Given the description of an element on the screen output the (x, y) to click on. 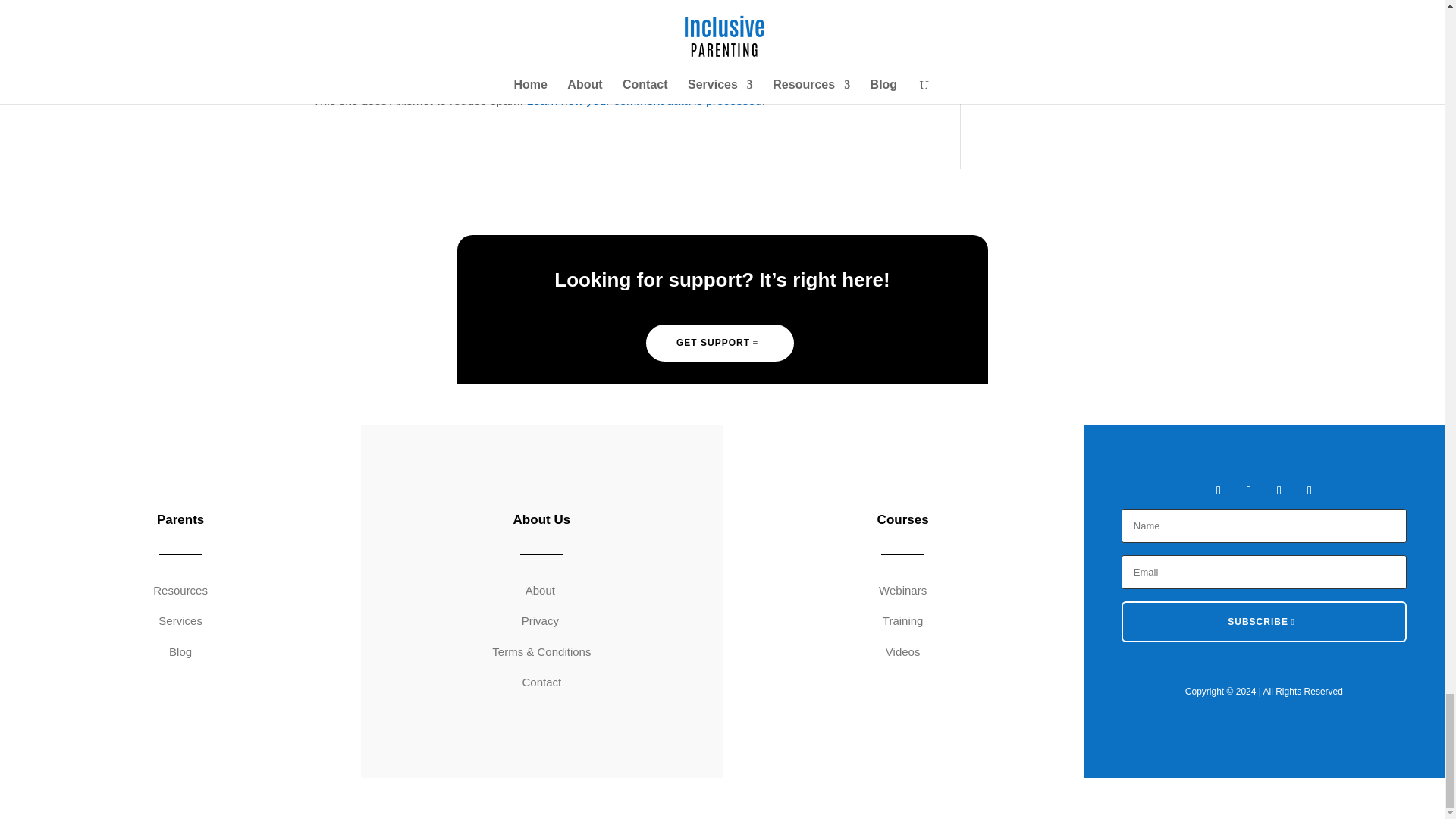
Follow on Twitter (1248, 490)
Submit Comment (840, 20)
Follow on Facebook (1218, 490)
Follow on Instagram (1278, 490)
Follow on Pinterest (1309, 490)
